Given the description of an element on the screen output the (x, y) to click on. 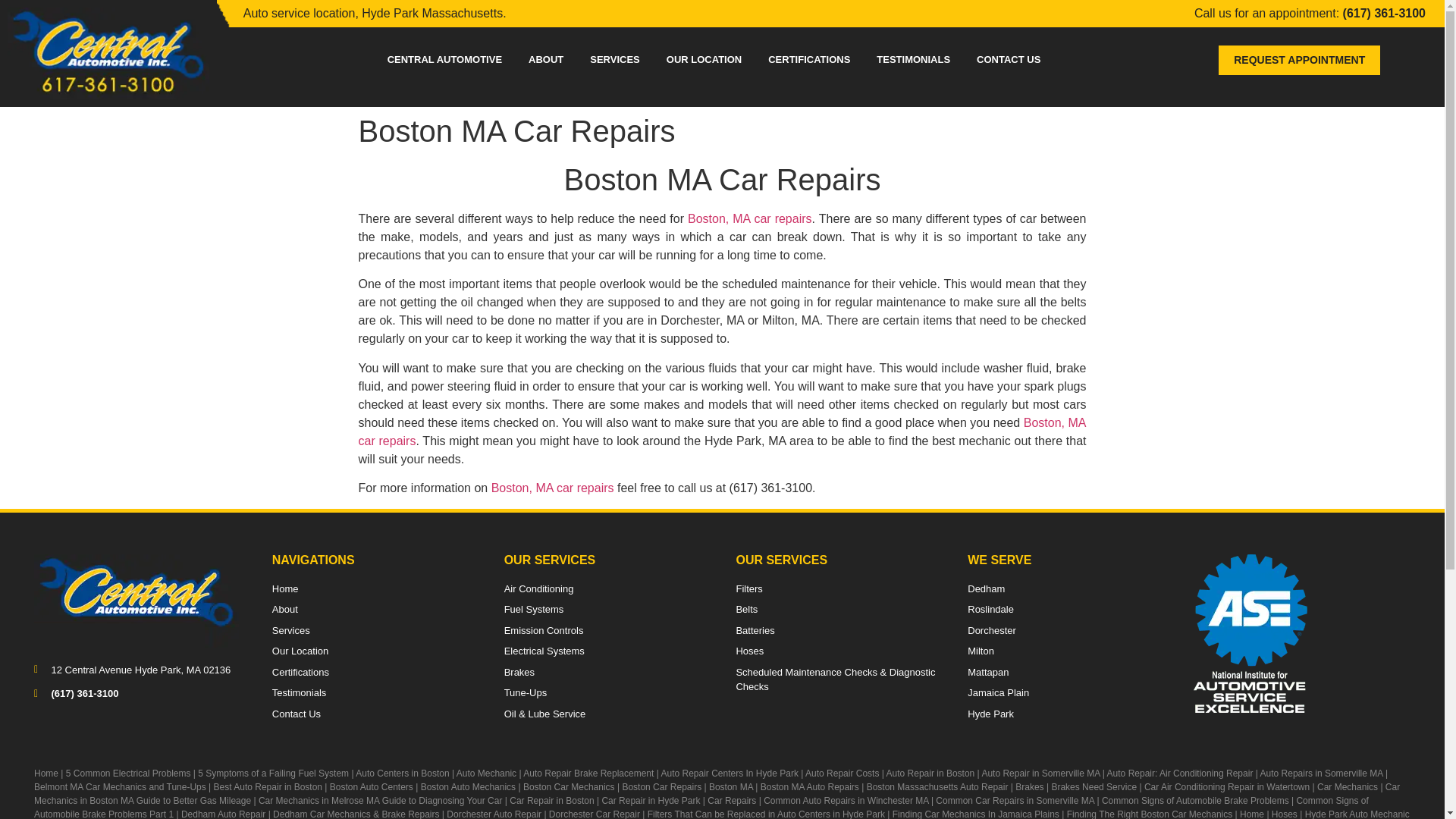
Boston, MA car repairs (553, 487)
Car Repair In Boston (722, 431)
TESTIMONIALS (913, 60)
CERTIFICATIONS (809, 60)
REQUEST APPOINTMENT (1299, 59)
Certifications (374, 672)
CONTACT US (1008, 60)
Home (553, 487)
SERVICES (614, 60)
About (374, 609)
OUR LOCATION (703, 60)
Boston, MA car repairs (722, 431)
Boston, MA car repairs (749, 218)
Home (374, 589)
Our Location (374, 651)
